Given the description of an element on the screen output the (x, y) to click on. 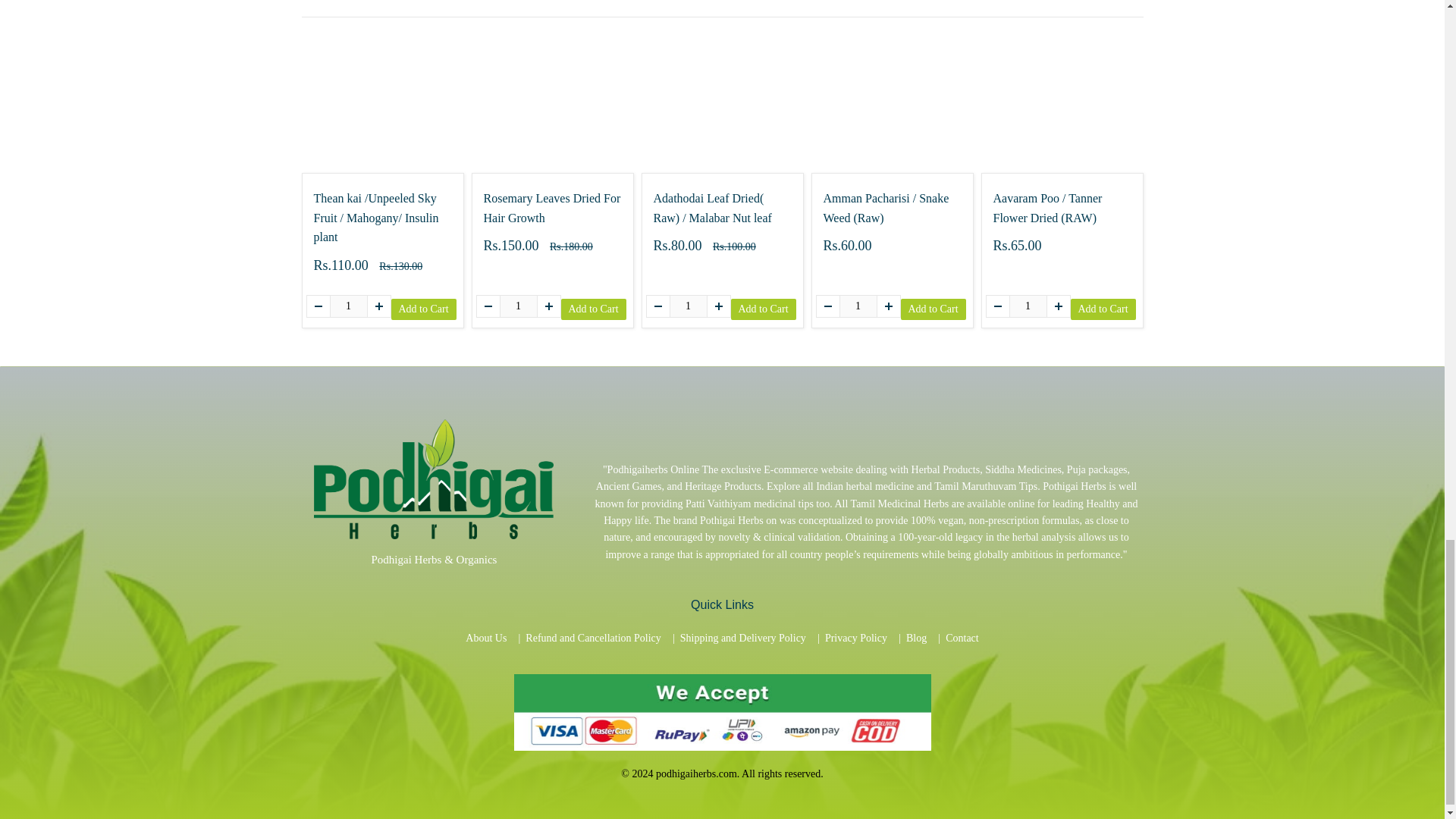
1 (347, 305)
1 (518, 305)
1 (687, 305)
quantity (518, 305)
About Us (485, 638)
quantity (347, 305)
quantity (857, 305)
quantity (1027, 305)
Privacy Policy (855, 638)
Shipping and Delivery Policy (742, 638)
quantity (687, 305)
1 (1027, 305)
1 (857, 305)
Refund and Cancellation Policy (593, 638)
